Given the description of an element on the screen output the (x, y) to click on. 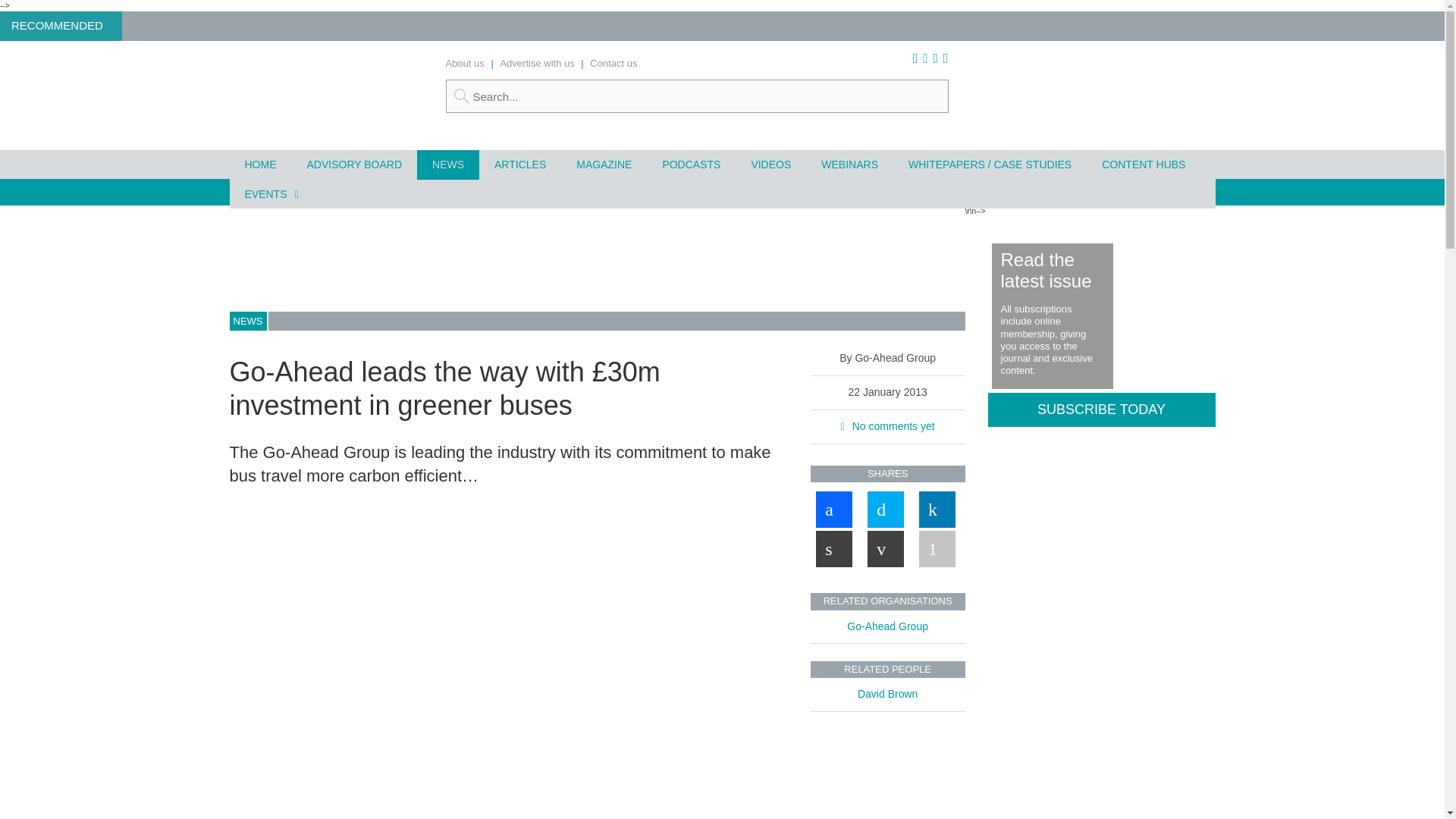
Advertise with us (536, 62)
ADVISORY BOARD (353, 164)
CONTENT HUBS (1142, 164)
HOME (259, 164)
WEBINARS (849, 164)
About us (464, 62)
VIDEOS (770, 164)
Contact us (613, 62)
MAGAZINE (603, 164)
ARTICLES (519, 164)
NEWS (447, 164)
Search (697, 96)
PODCASTS (690, 164)
